Given the description of an element on the screen output the (x, y) to click on. 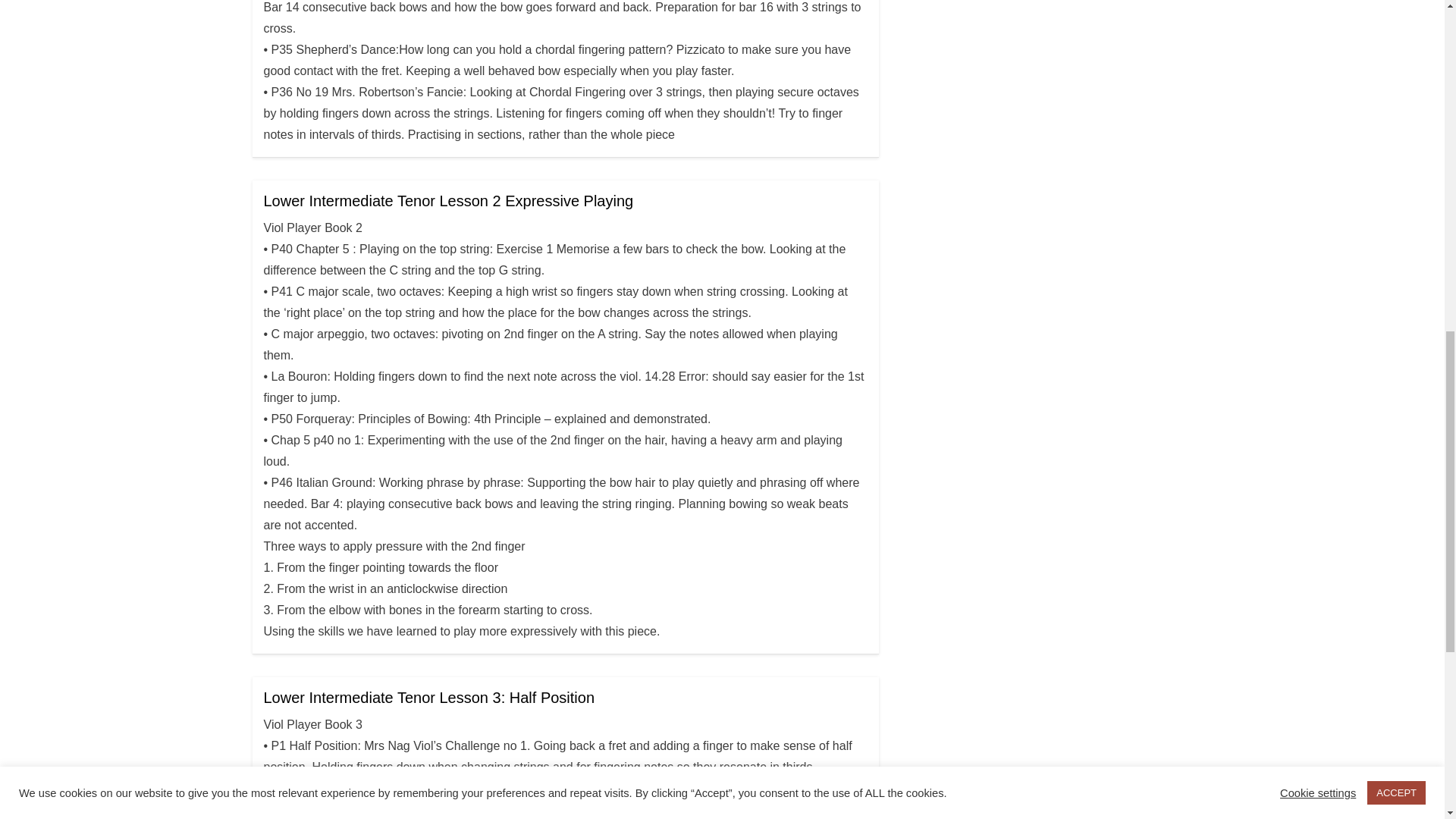
Lower Intermediate Tenor Lesson 3: Half Position (429, 697)
Lower Intermediate Tenor Lesson 2 Expressive Playing (448, 200)
